Given the description of an element on the screen output the (x, y) to click on. 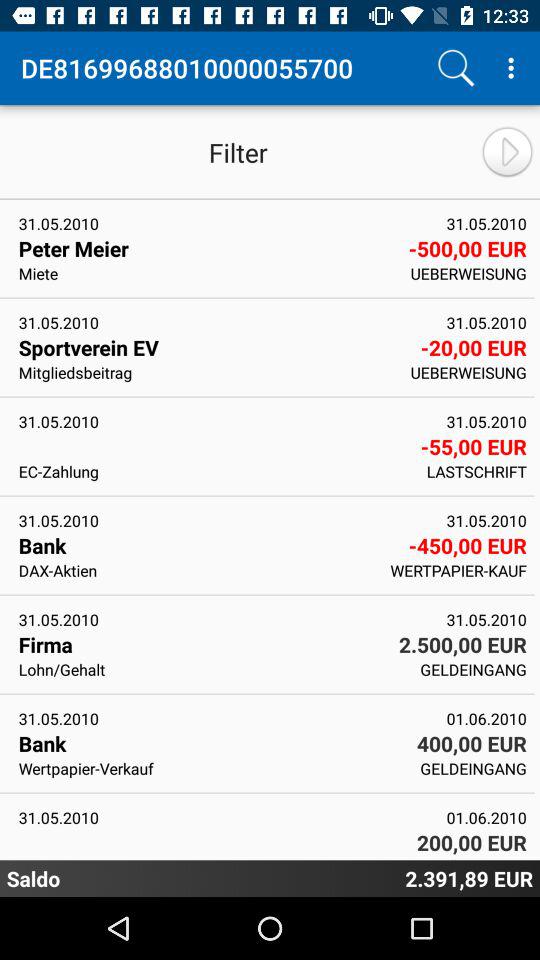
click the icon next to the de81699688010000055700 app (455, 67)
